Given the description of an element on the screen output the (x, y) to click on. 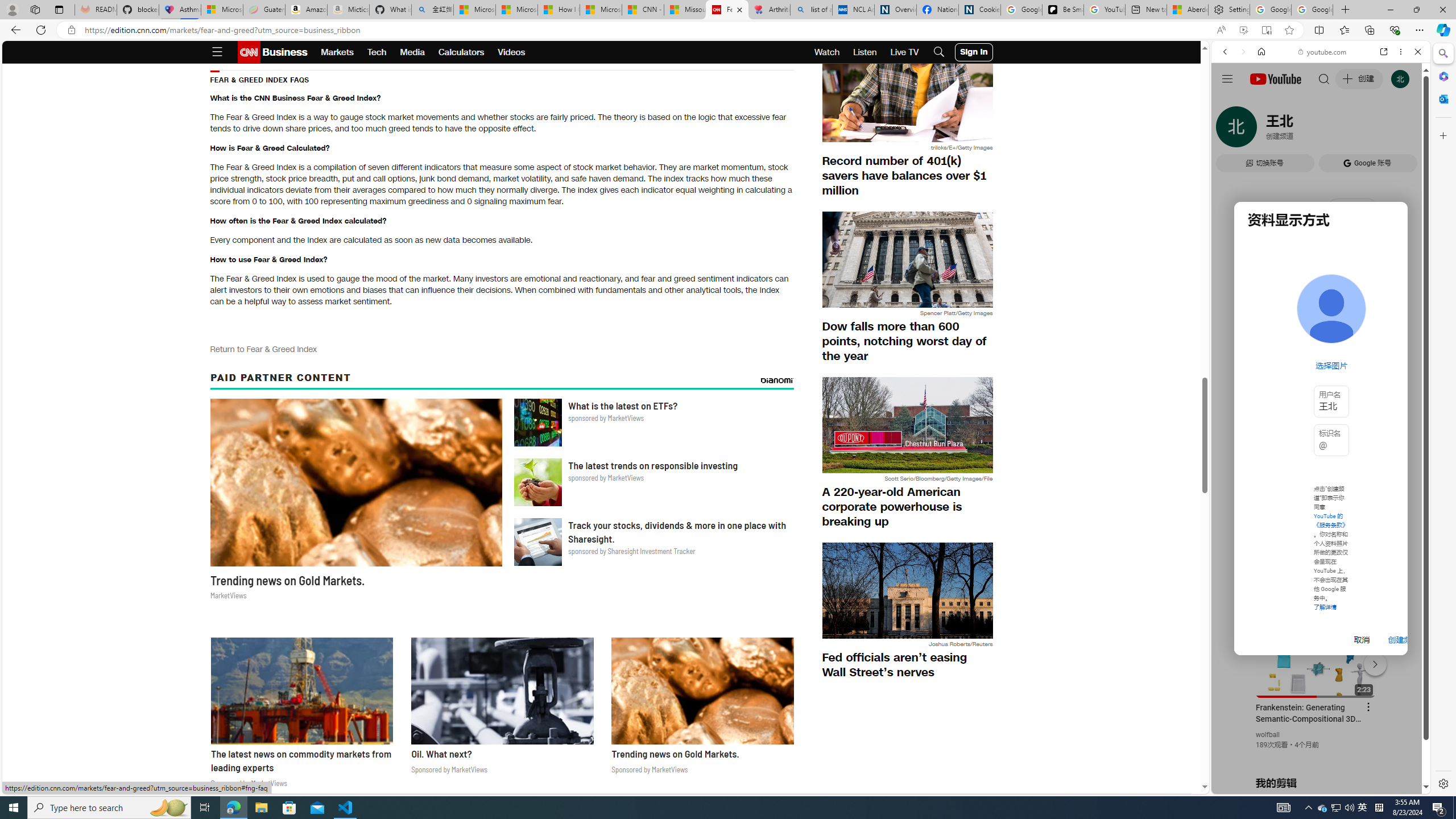
Tech (376, 51)
wolfball (1268, 734)
Dianomi Logo (776, 379)
Search (1442, 53)
youtube.com (1322, 51)
MarketViews (702, 690)
Arthritis: Ask Health Professionals (769, 9)
Cookies (979, 9)
